Given the description of an element on the screen output the (x, y) to click on. 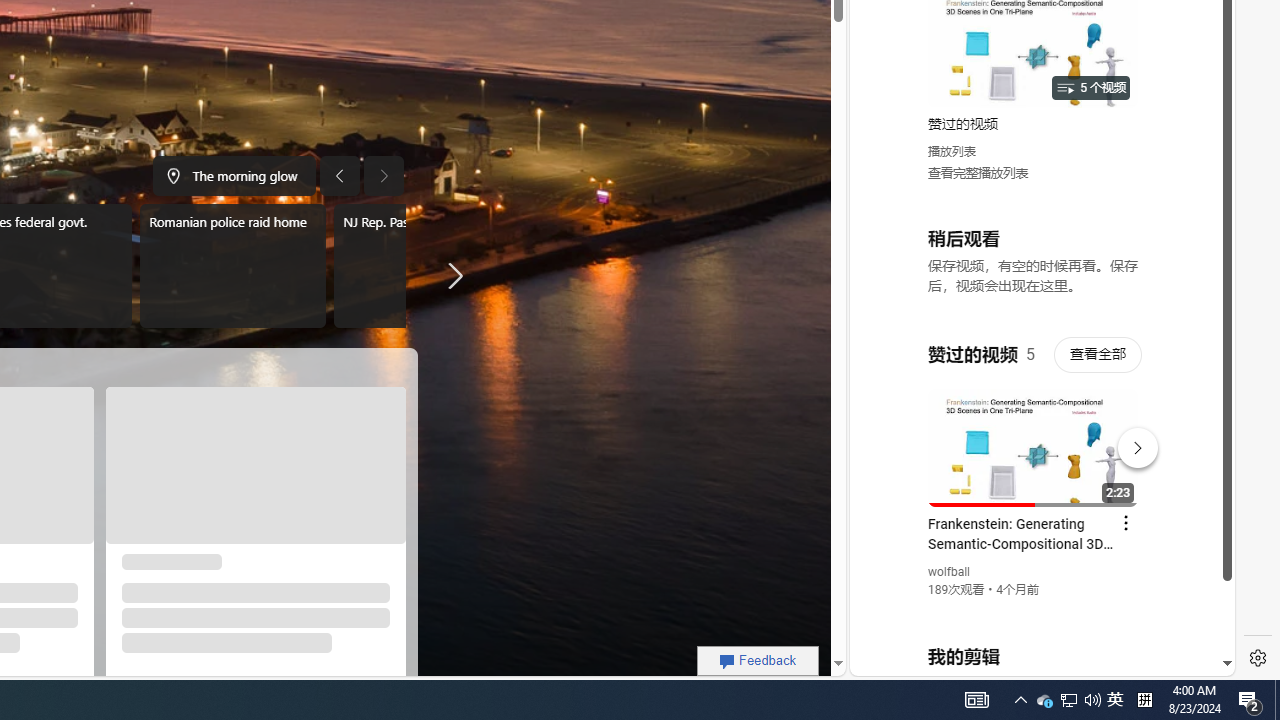
NJ Rep. Pascrell dies (425, 265)
YouTube - YouTube (1034, 266)
Class: dict_pnIcon rms_img (1028, 660)
Next image (383, 175)
